Given the description of an element on the screen output the (x, y) to click on. 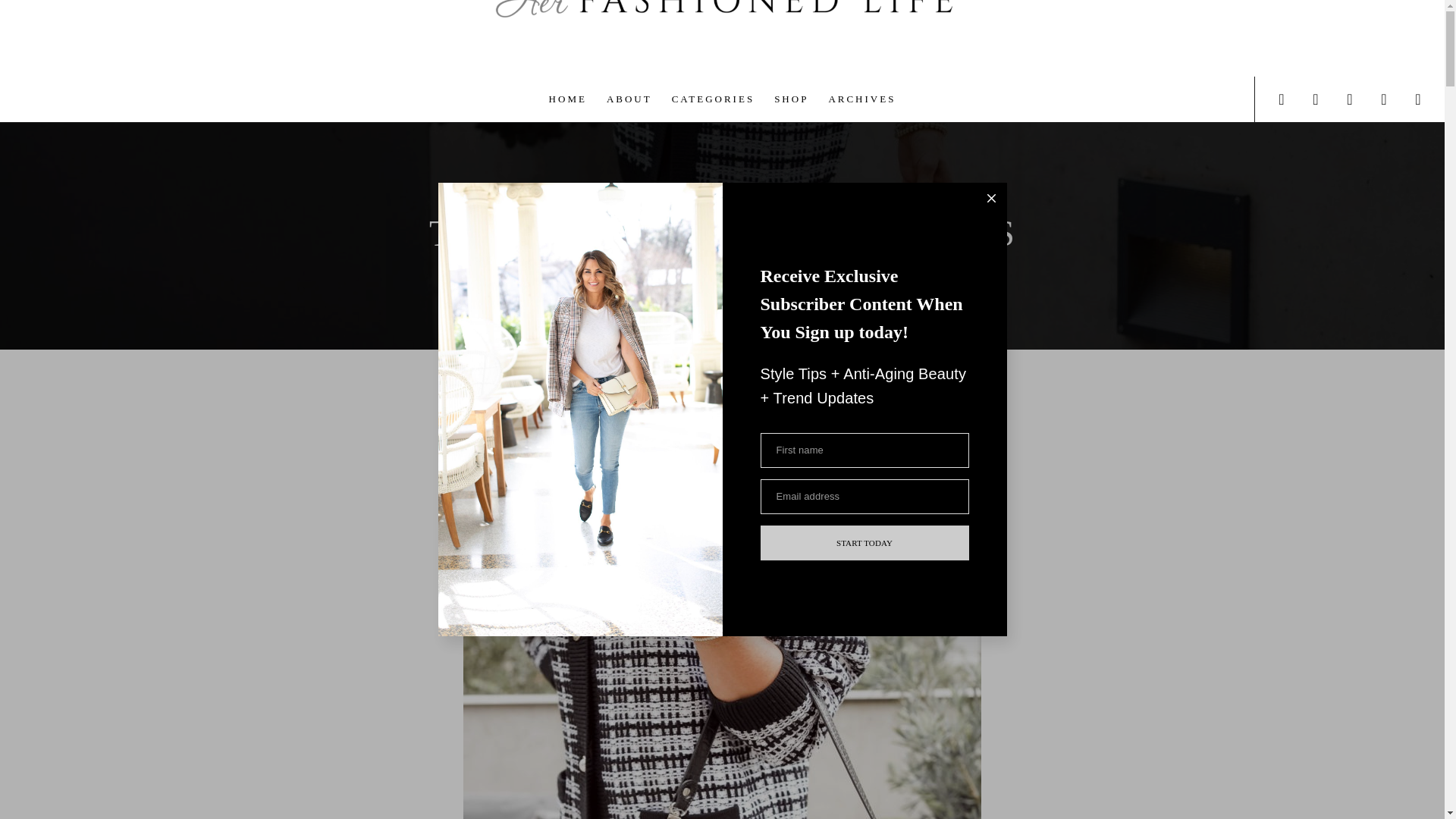
ABOUT (629, 99)
HOME (567, 99)
ARCHIVES (861, 99)
SHOP (791, 99)
CATEGORIES (713, 99)
